Given the description of an element on the screen output the (x, y) to click on. 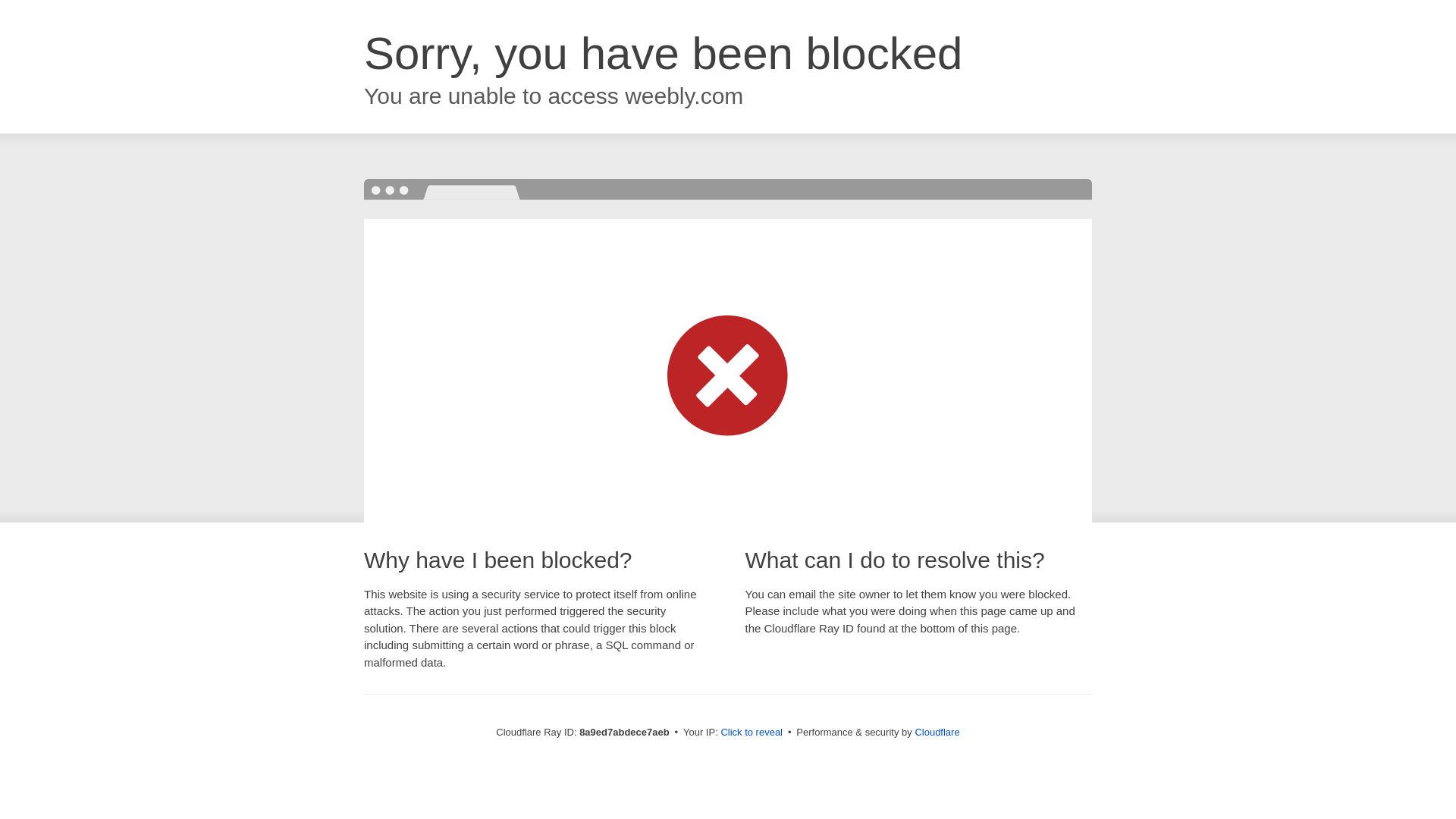
Click to reveal (751, 732)
Cloudflare (936, 731)
